Given the description of an element on the screen output the (x, y) to click on. 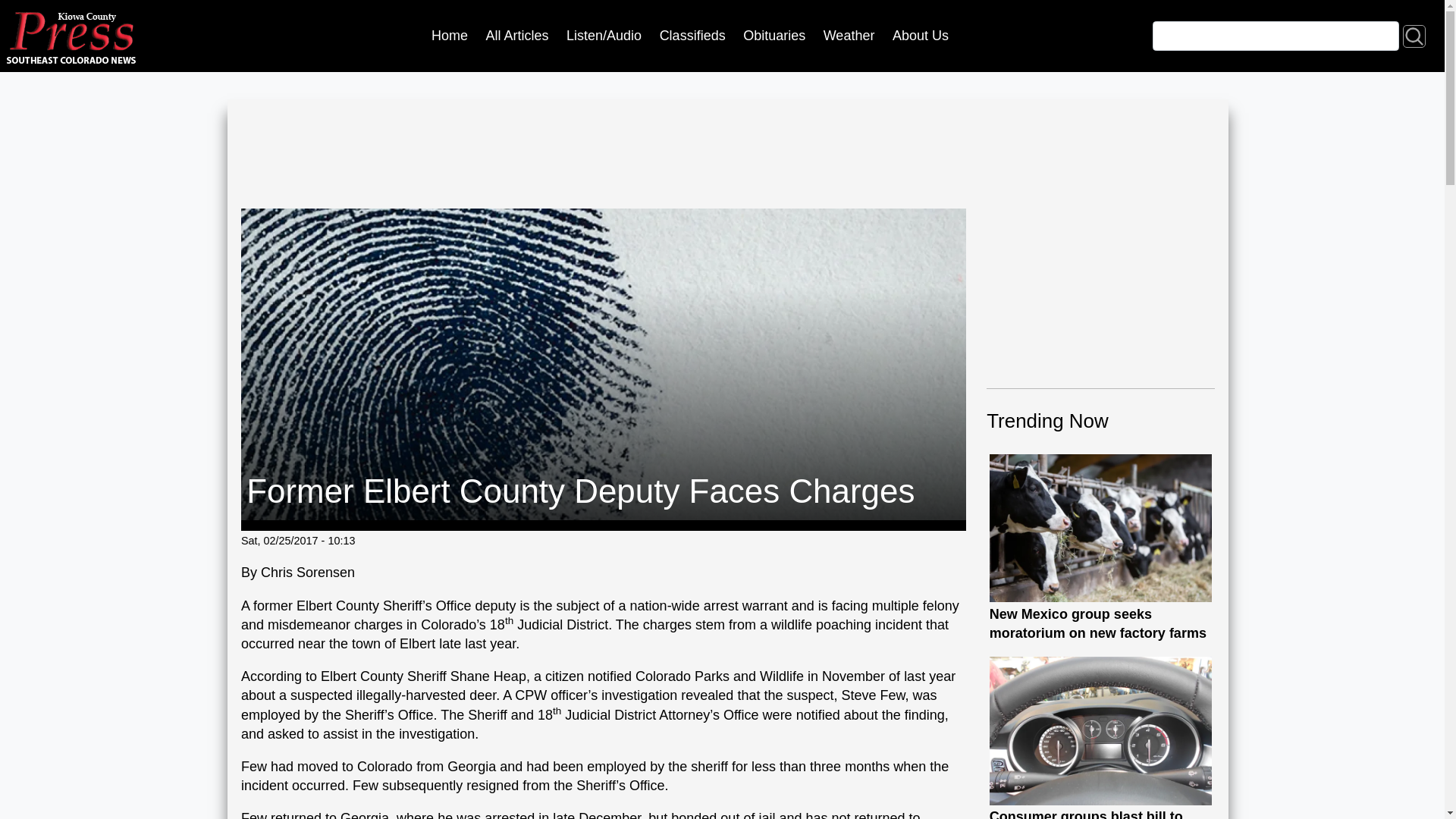
Search (1414, 35)
Weather (849, 35)
Obituaries (774, 35)
Search (1414, 35)
view all articles (517, 35)
Classifieds (692, 35)
Saturday, February 25, 2017 - 10:13 (298, 540)
Home (449, 35)
